Given the description of an element on the screen output the (x, y) to click on. 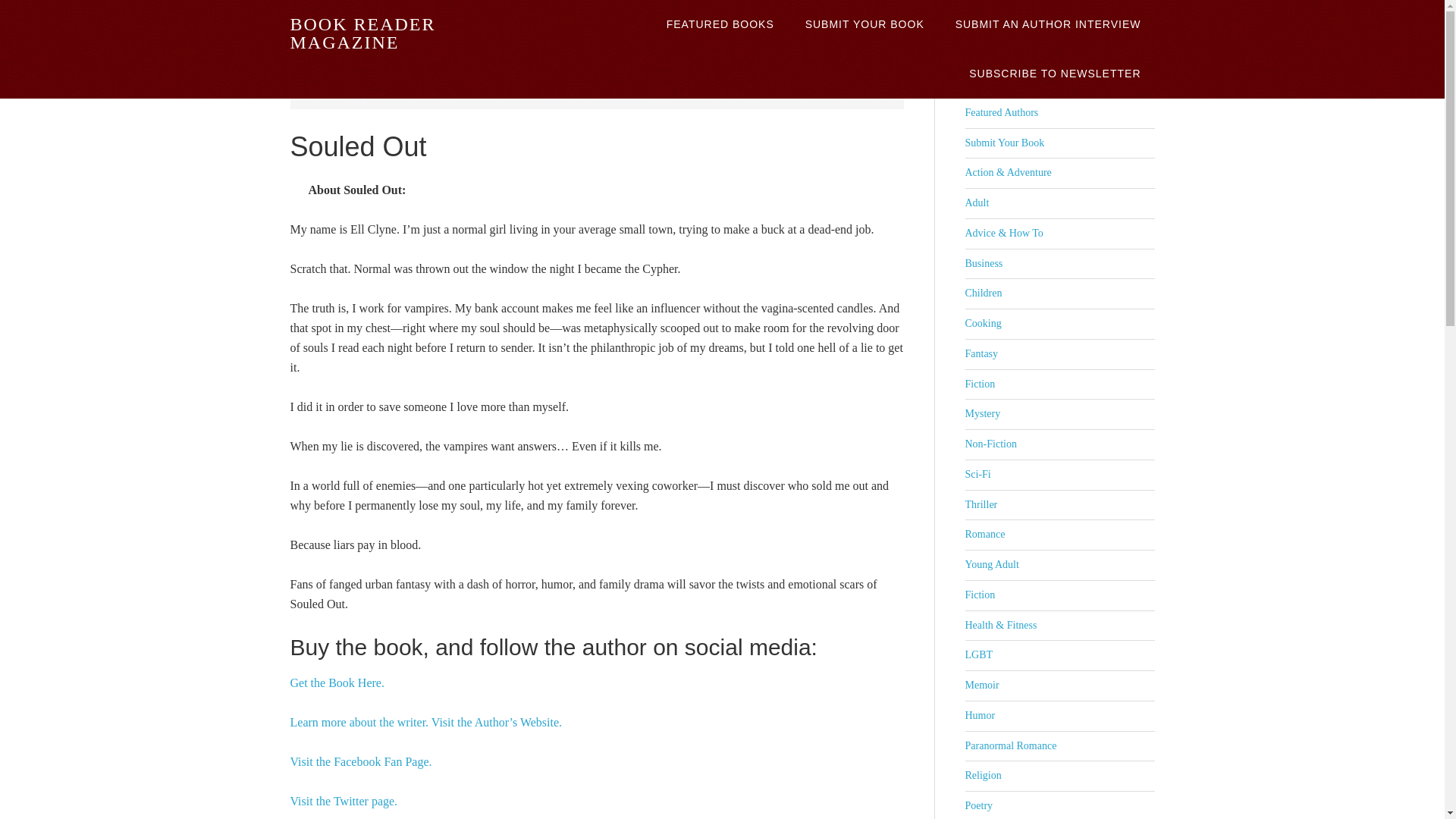
Home (374, 90)
Fiction (978, 383)
Visit the Facebook Fan Page. (359, 761)
Featured Authors (1000, 112)
FEATURED BOOKS (719, 24)
Books To Read (428, 90)
Children (982, 292)
SUBMIT YOUR BOOK (864, 24)
BOOK READER MAGAZINE (362, 33)
Get the Book Here. (336, 682)
